Given the description of an element on the screen output the (x, y) to click on. 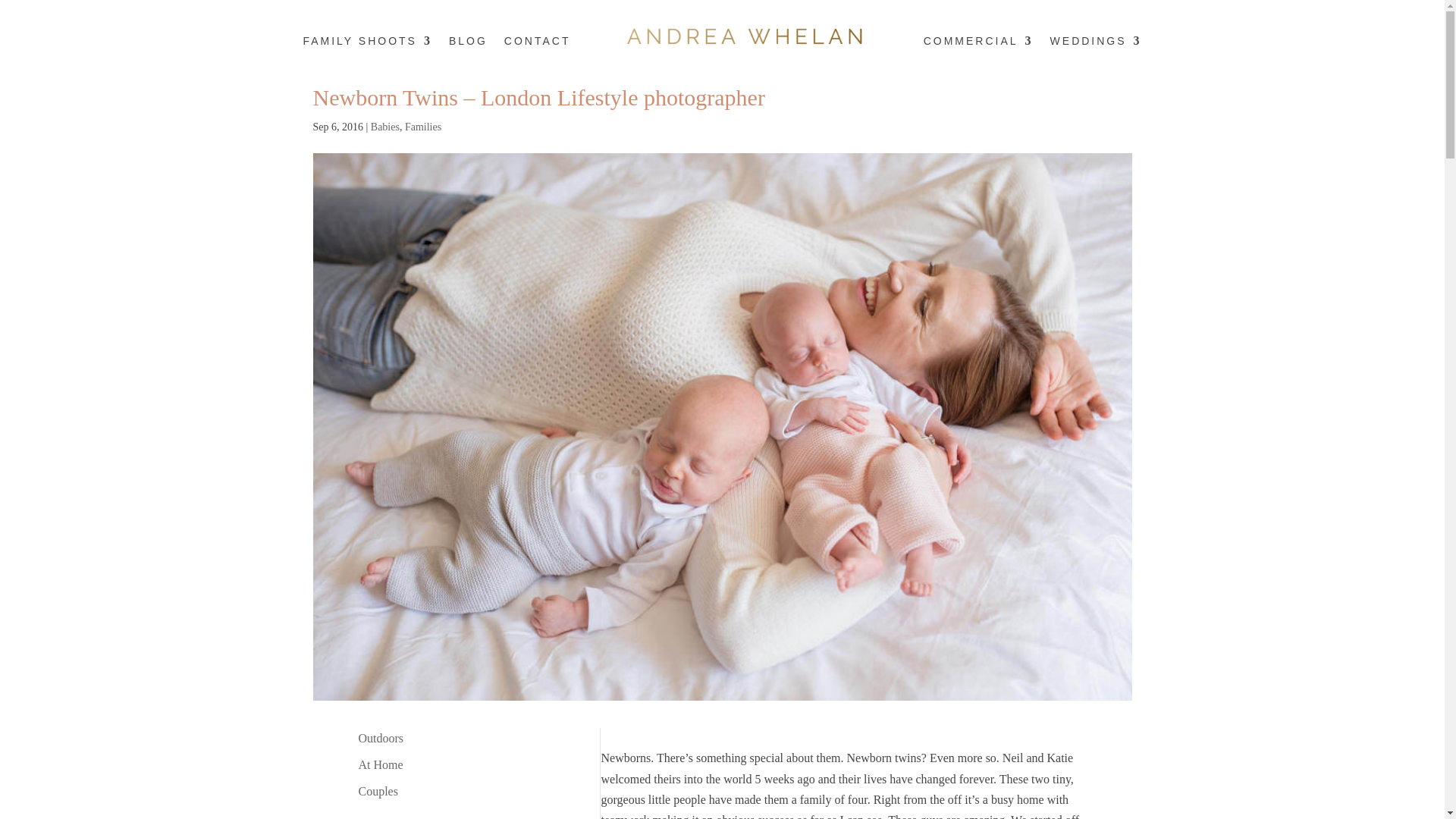
Babies (384, 126)
At Home (380, 764)
Families (422, 126)
WEDDINGS (1095, 40)
COMMERCIAL (978, 40)
FAMILY SHOOTS (367, 40)
Outdoors (380, 738)
